Given the description of an element on the screen output the (x, y) to click on. 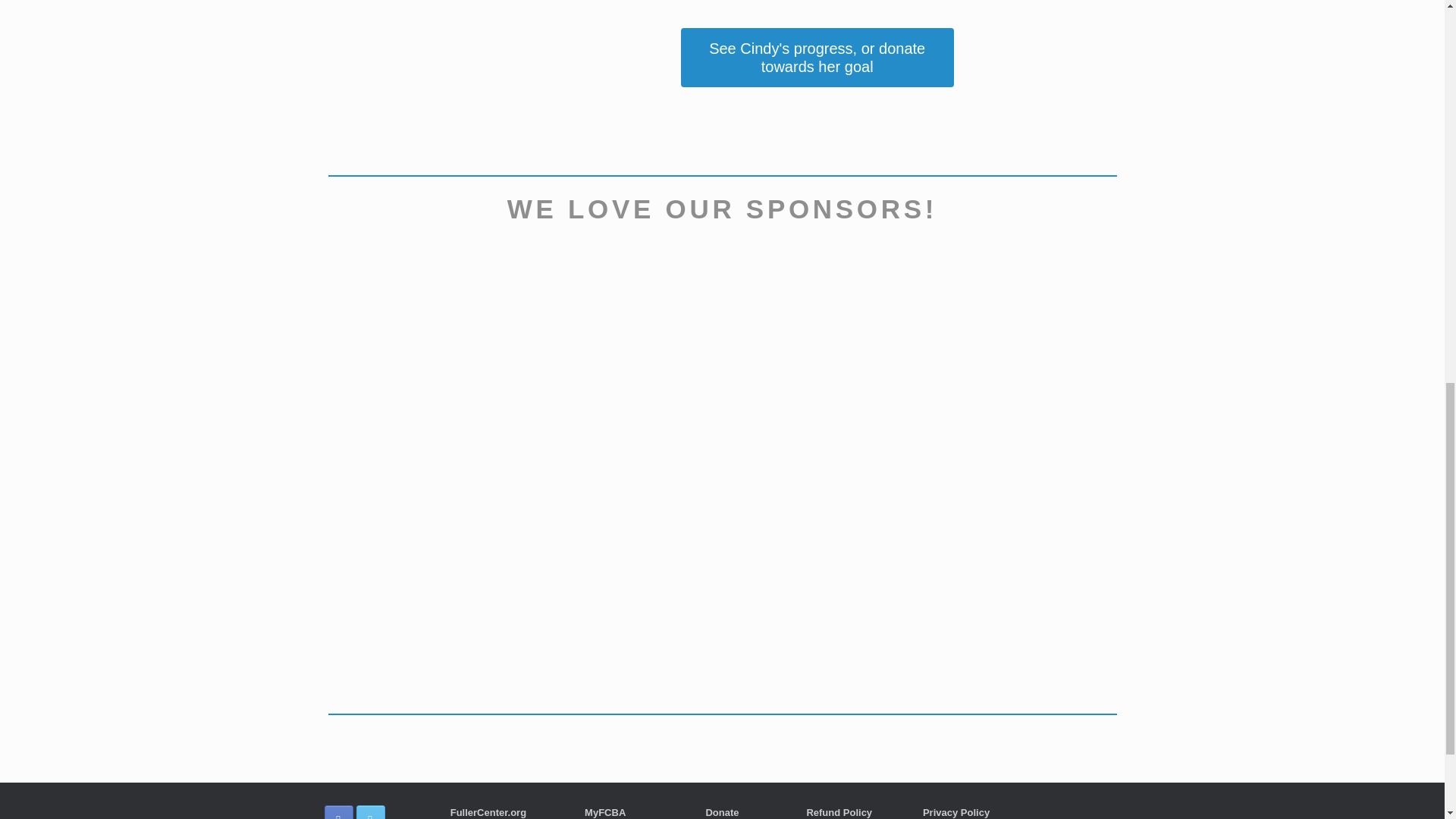
Fuller Center Bike Adventure Facebook (338, 812)
Fuller Center Bike Adventure Twitter (370, 812)
